Given the description of an element on the screen output the (x, y) to click on. 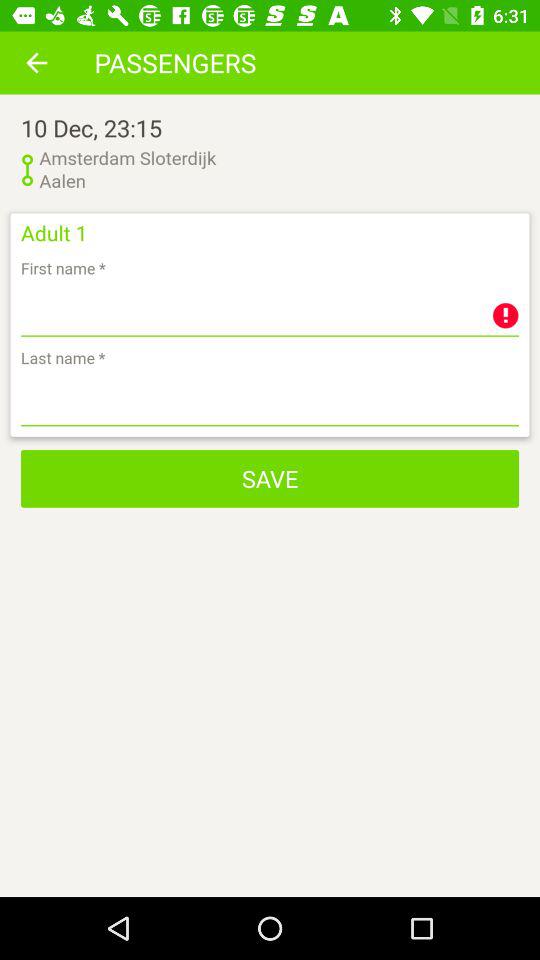
enter the first name of adult 1 (270, 310)
